Given the description of an element on the screen output the (x, y) to click on. 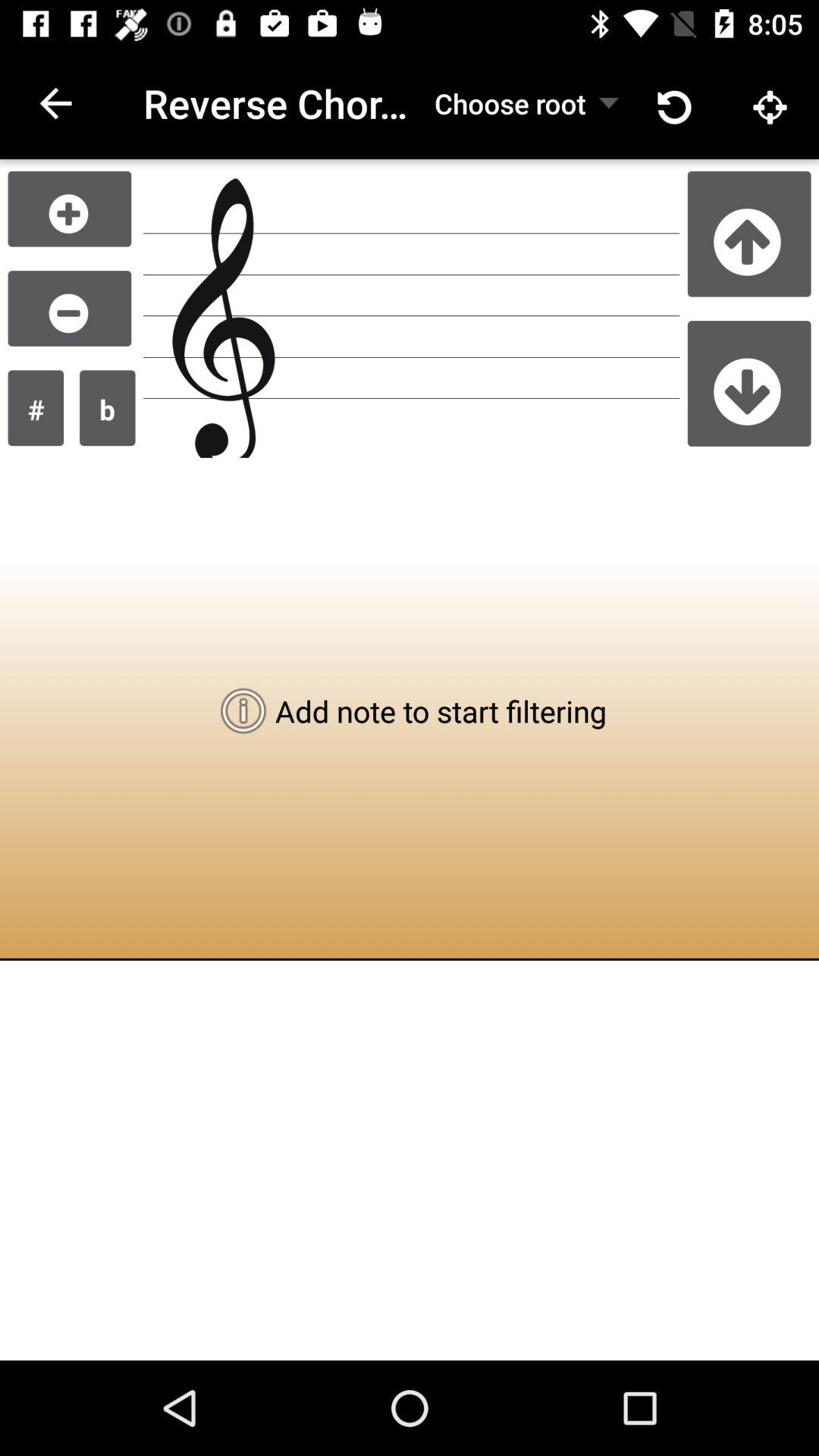
add notes (69, 208)
